Given the description of an element on the screen output the (x, y) to click on. 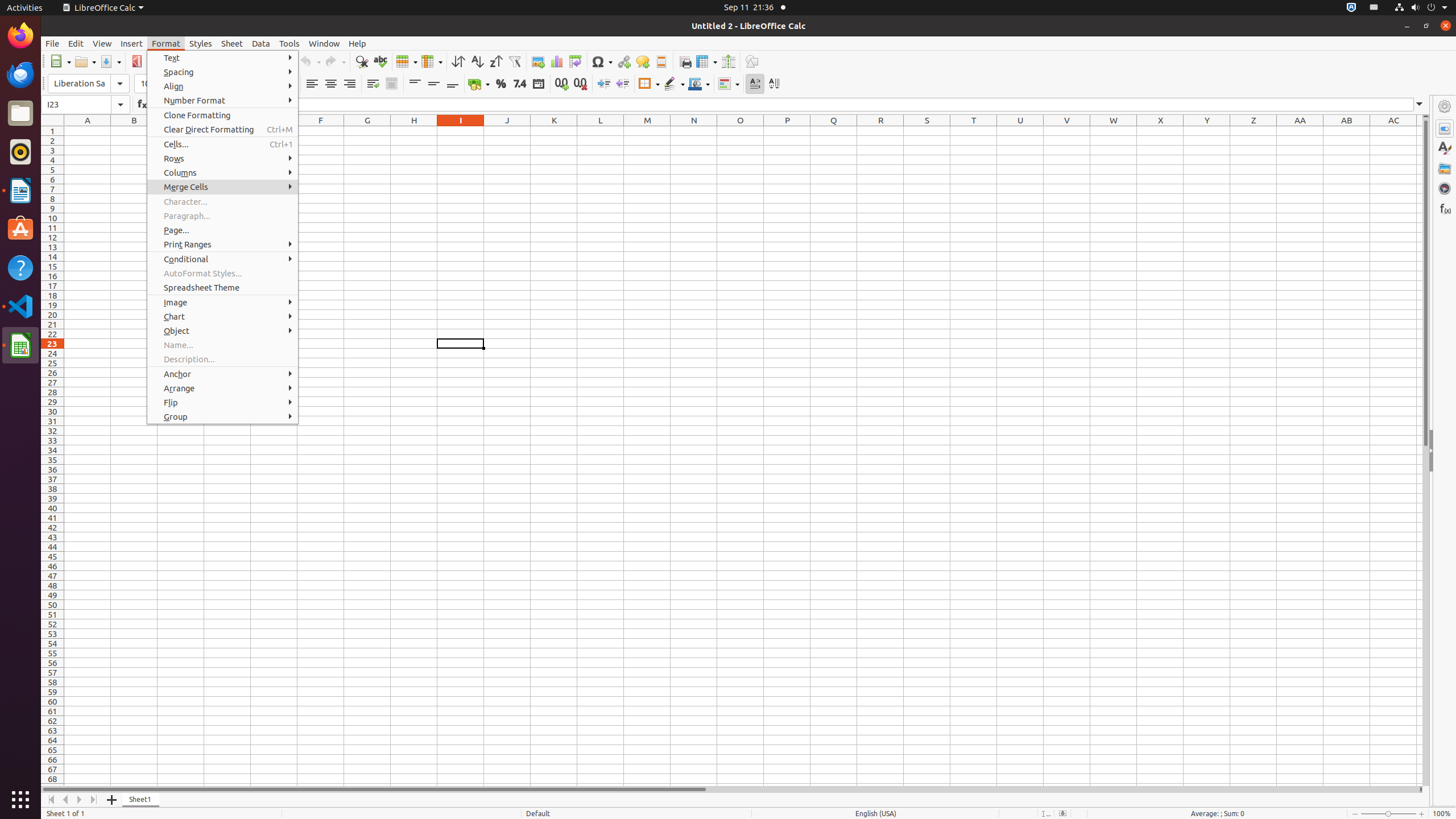
I1 Element type: table-cell (460, 130)
LibreOffice Calc Element type: push-button (20, 344)
AB1 Element type: table-cell (1346, 130)
Insert Element type: menu (131, 43)
Rows Element type: menu (222, 158)
